Given the description of an element on the screen output the (x, y) to click on. 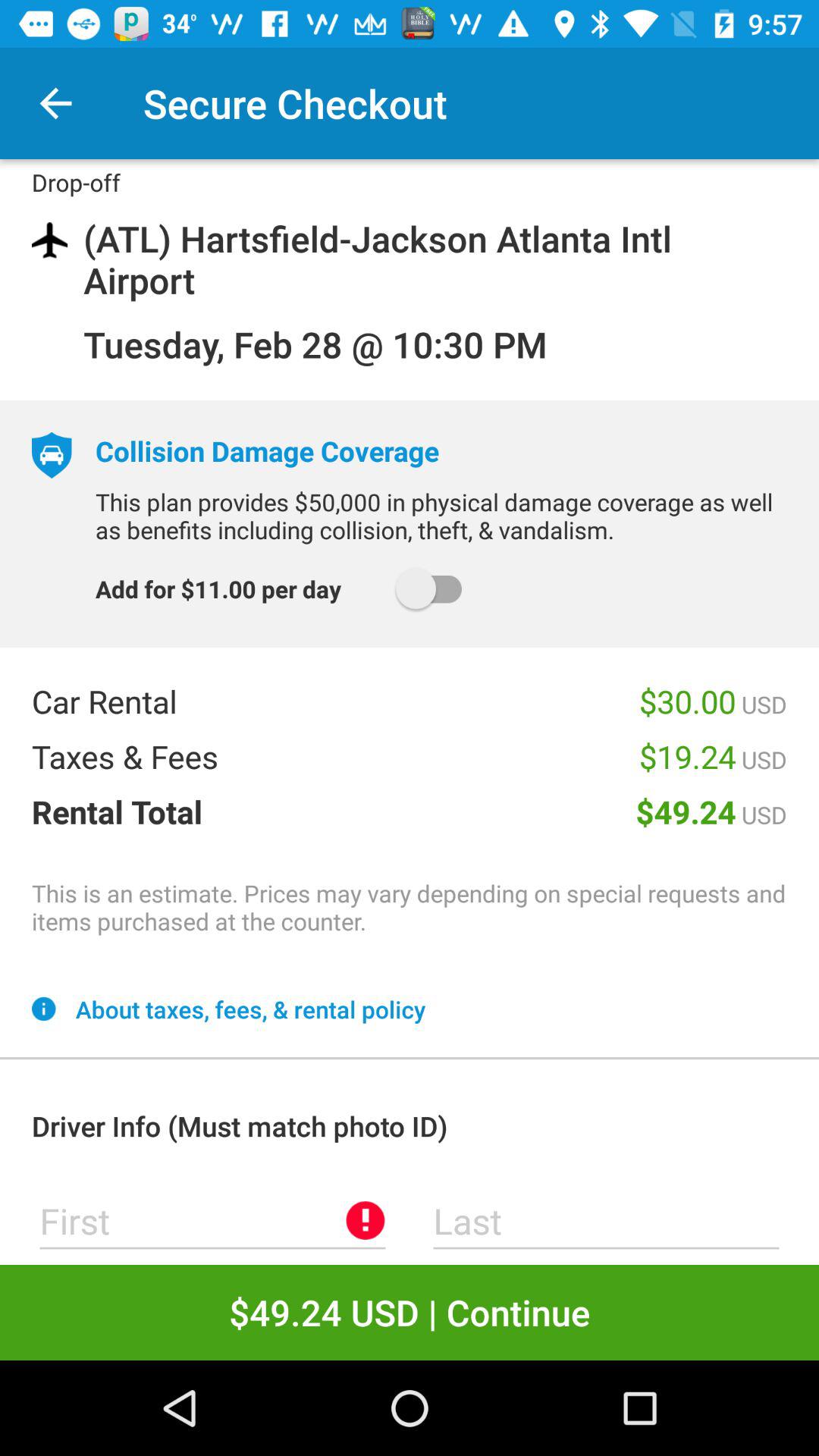
space to enter last name (606, 1220)
